Given the description of an element on the screen output the (x, y) to click on. 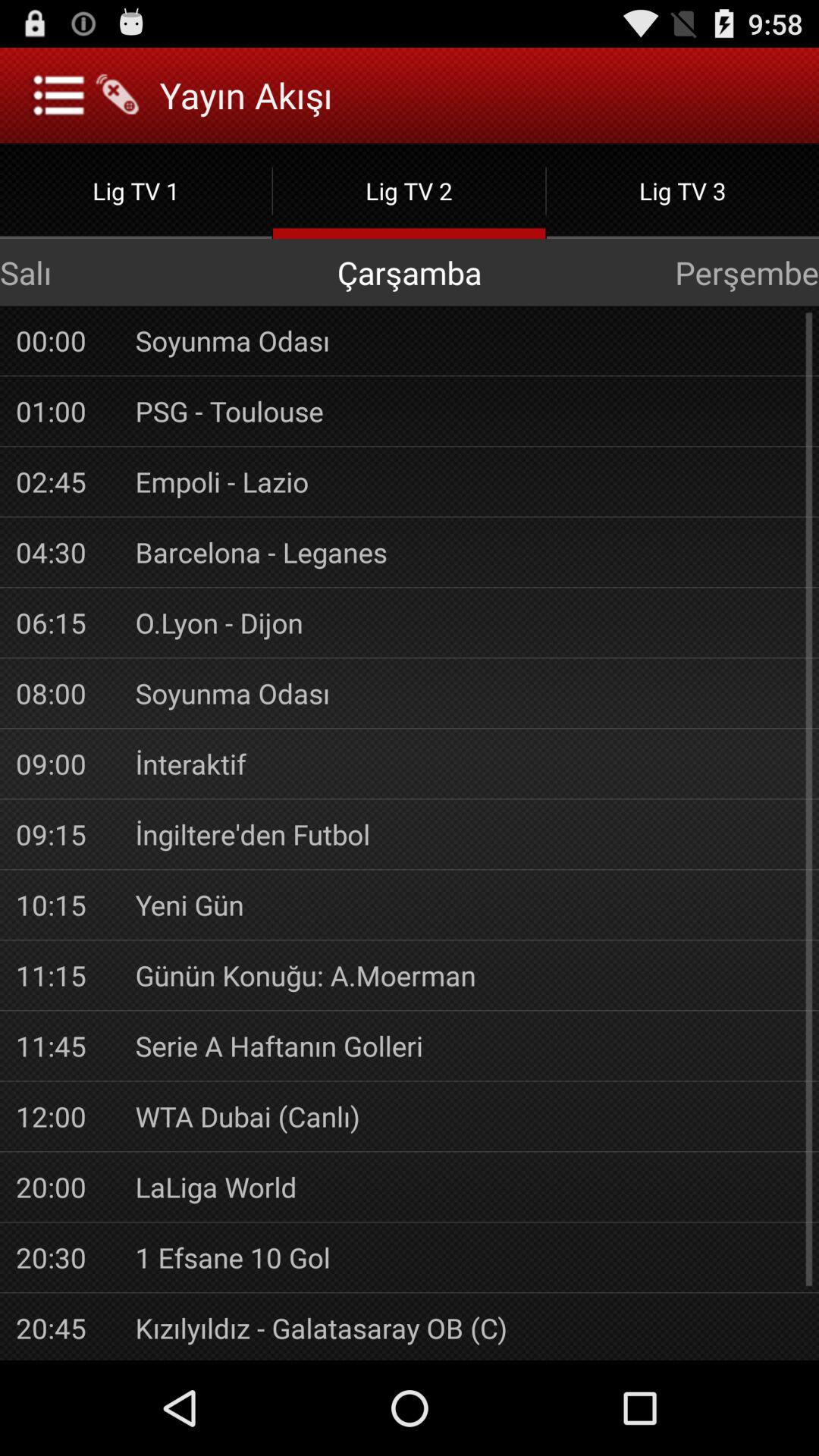
click the item above barcelona - leganes (469, 481)
